Given the description of an element on the screen output the (x, y) to click on. 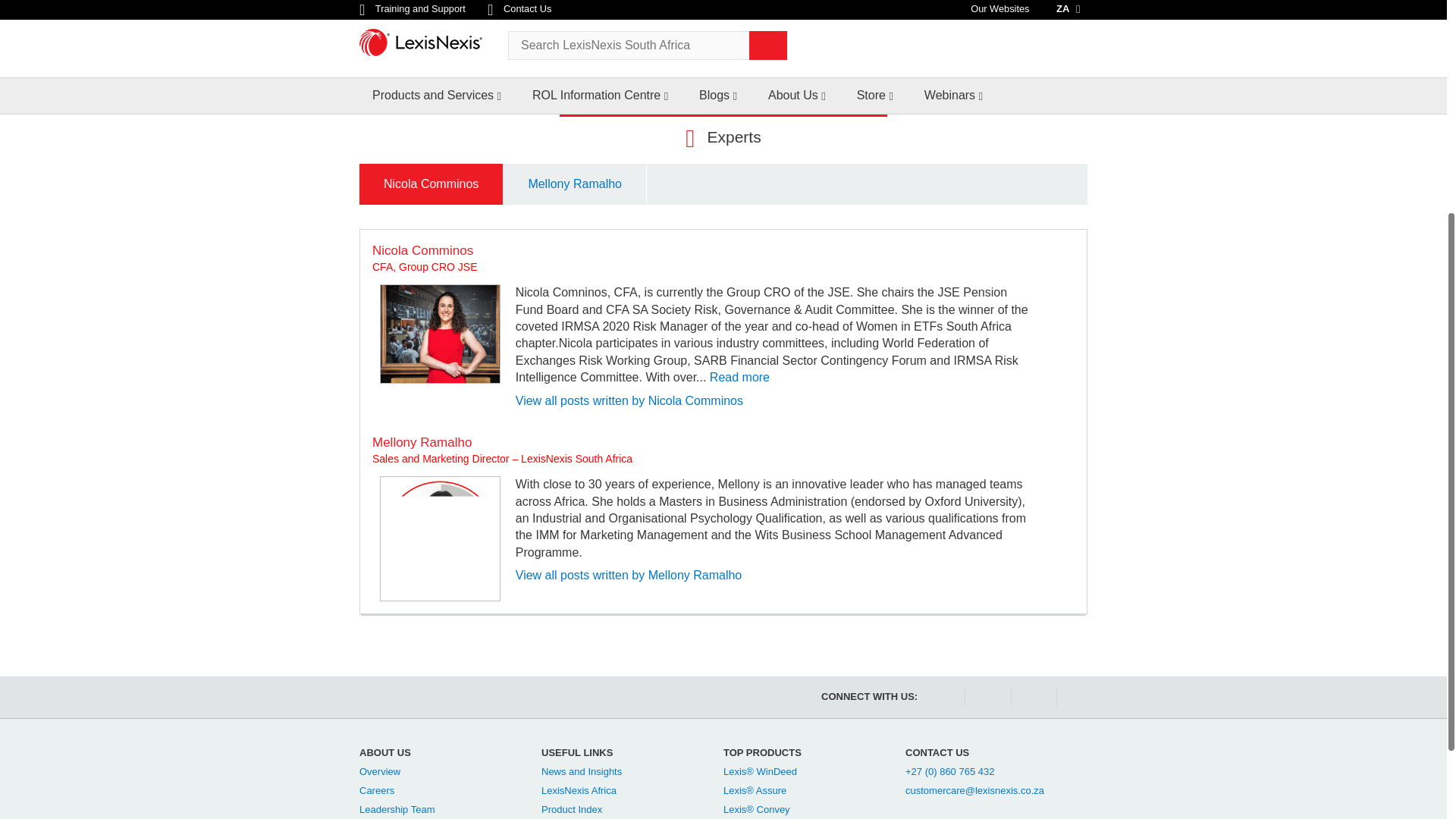
Find us on Facebook (940, 696)
Nicola Comminos (439, 334)
Mellony Ramalho (439, 538)
